Given the description of an element on the screen output the (x, y) to click on. 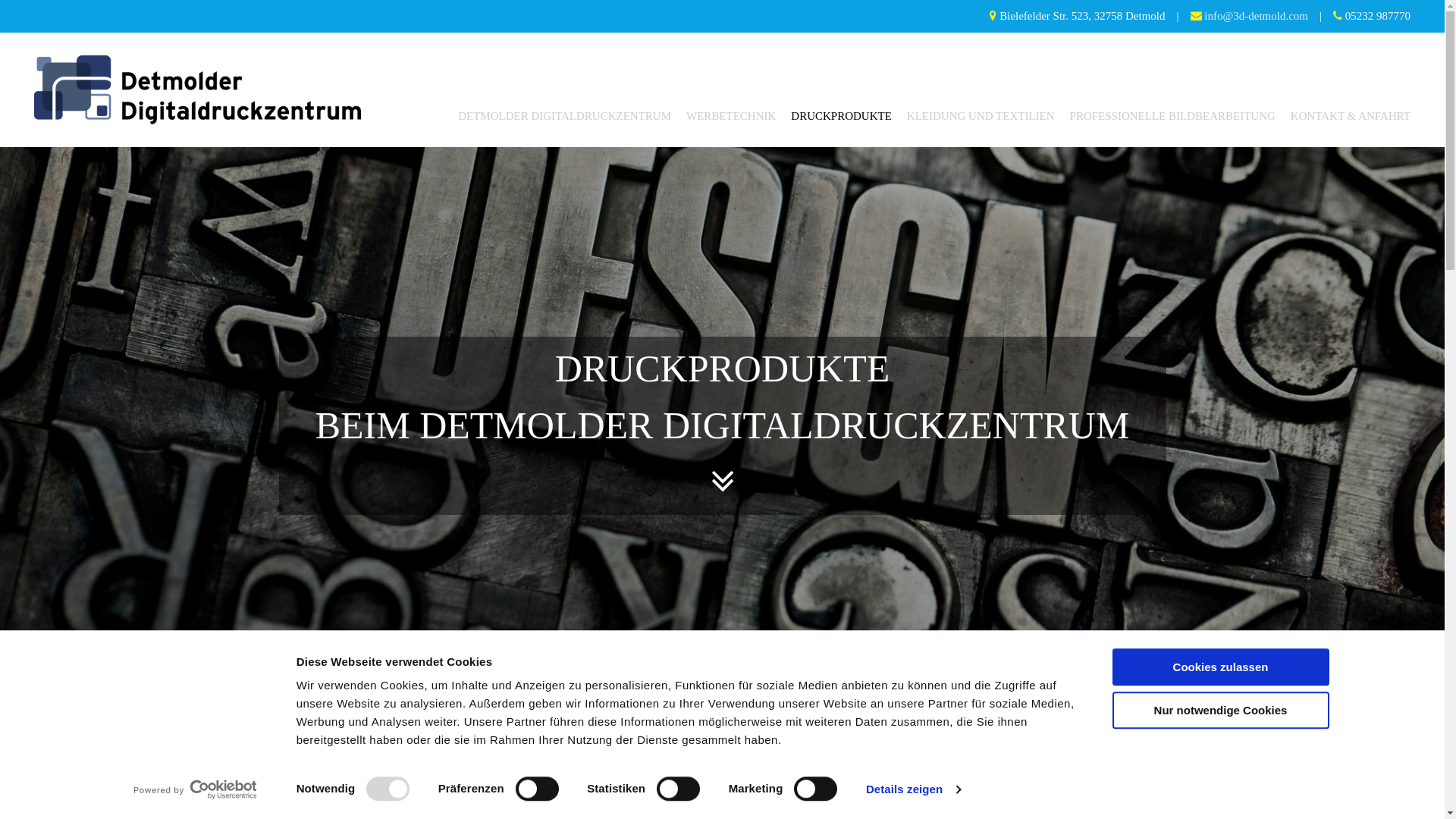
KLEIDUNG UND TEXTILIEN Element type: text (972, 116)
Details zeigen Element type: text (913, 789)
DRUCKPRODUKTE Element type: text (833, 116)
Cookies zulassen Element type: text (1219, 666)
PROFESSIONELLE BILDBEARBEITUNG Element type: text (1164, 116)
DETMOLDER DIGITALDRUCKZENTRUM Element type: text (556, 116)
info@3d-detmold.com Element type: text (1256, 15)
KONTAKT & ANFAHRT Element type: text (1342, 116)
WERBETECHNIK Element type: text (723, 116)
Nur notwendige Cookies Element type: text (1219, 709)
